Given the description of an element on the screen output the (x, y) to click on. 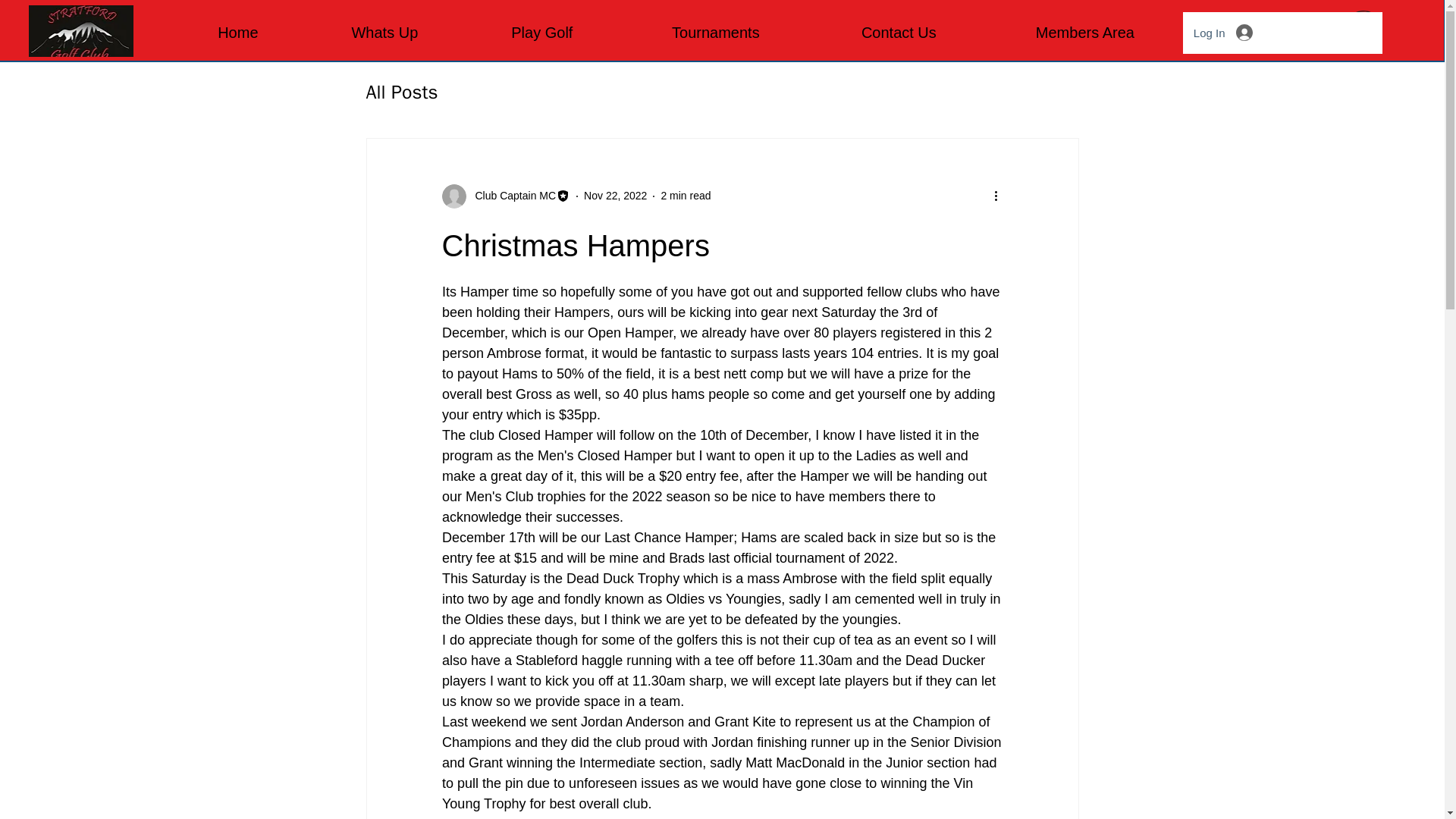
All Posts (401, 91)
Club Captain MC (510, 195)
Club Captain MC (505, 195)
Members Area (1085, 32)
Nov 22, 2022 (614, 195)
Log In (1222, 32)
2 min read (685, 195)
Contact Us (898, 32)
Home (237, 32)
